Given the description of an element on the screen output the (x, y) to click on. 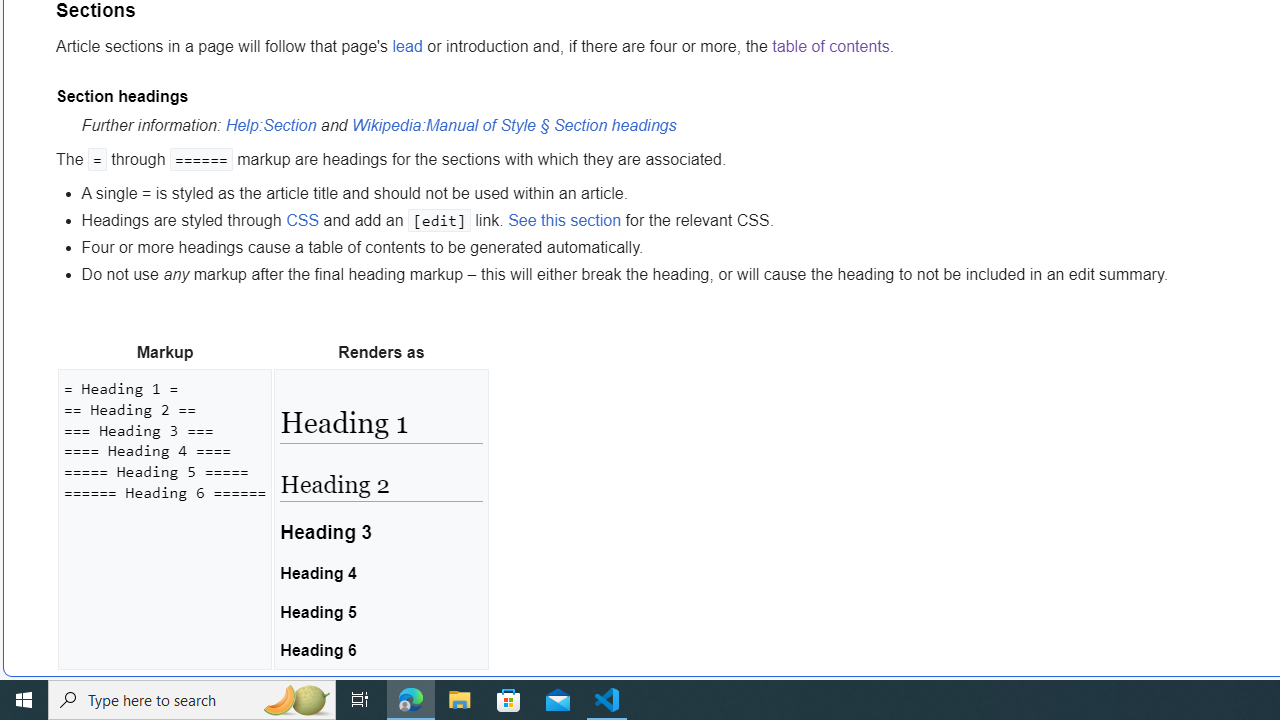
Renders as (380, 353)
CSS (302, 219)
Help:Section (271, 125)
Heading 1 Heading 2 Heading 3 Heading 4 Heading 5 Heading 6 (380, 518)
Markup (164, 353)
lead (406, 47)
table of contents (830, 47)
See this section (565, 219)
